Given the description of an element on the screen output the (x, y) to click on. 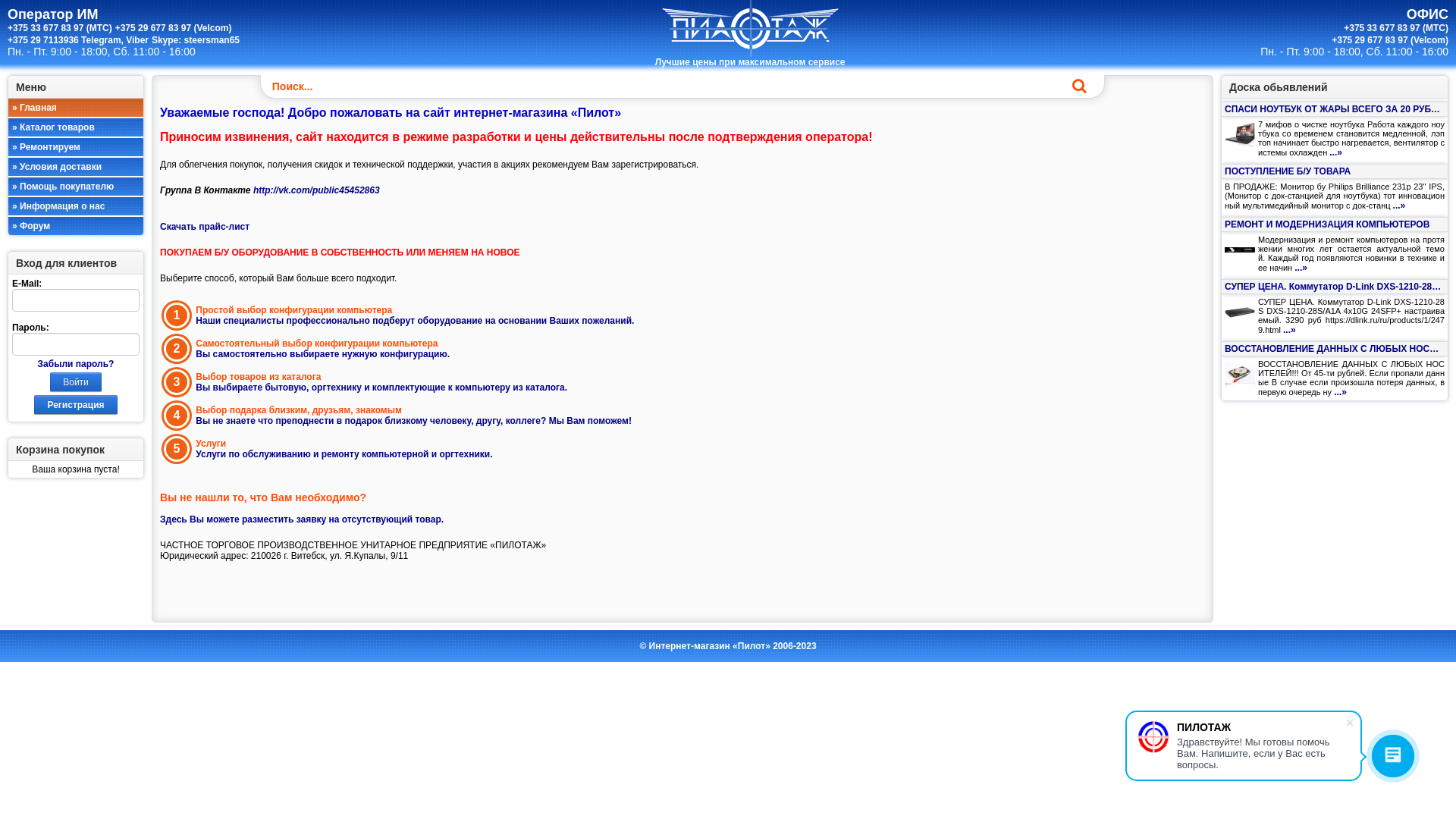
+375 29 677 83 97 (Velcom) Element type: text (1389, 39)
http://vk.com/public45452863 Element type: text (316, 190)
+375 29 7113936 Telegram, Viber Element type: text (77, 39)
Skype: steersman65 Element type: text (195, 39)
+375 29 677 83 97 (Velcom) Element type: text (173, 27)
